Given the description of an element on the screen output the (x, y) to click on. 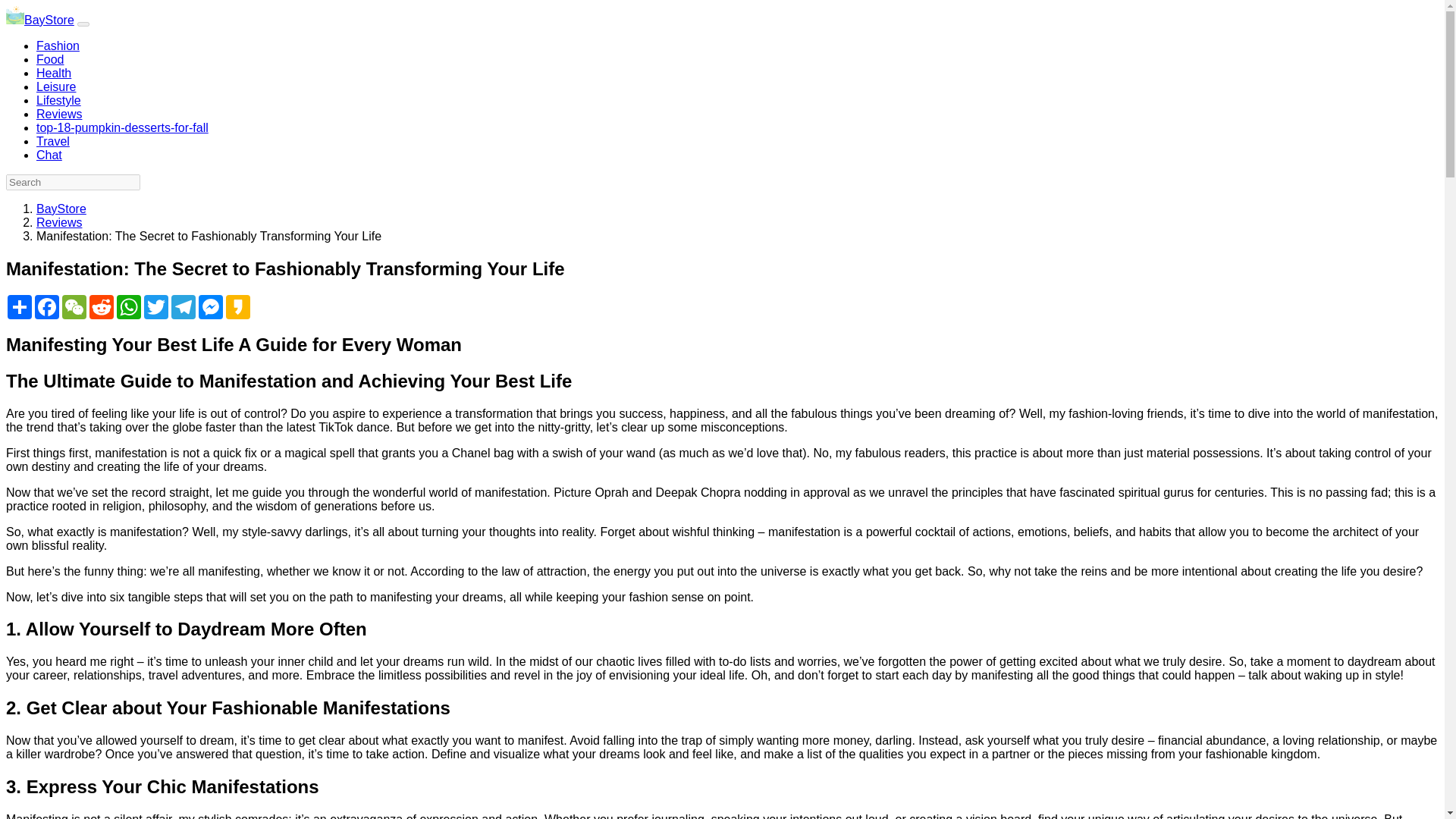
top-18-pumpkin-desserts-for-fall (122, 127)
Telegram (183, 306)
Lifestyle (58, 100)
BayStore (60, 208)
Reviews (58, 113)
BayStore (39, 19)
Facebook (47, 306)
Reviews (58, 222)
Kakao (237, 306)
Fashion (58, 45)
Leisure (55, 86)
Chat (49, 154)
Travel (52, 141)
WhatsApp (128, 306)
Health (53, 72)
